Given the description of an element on the screen output the (x, y) to click on. 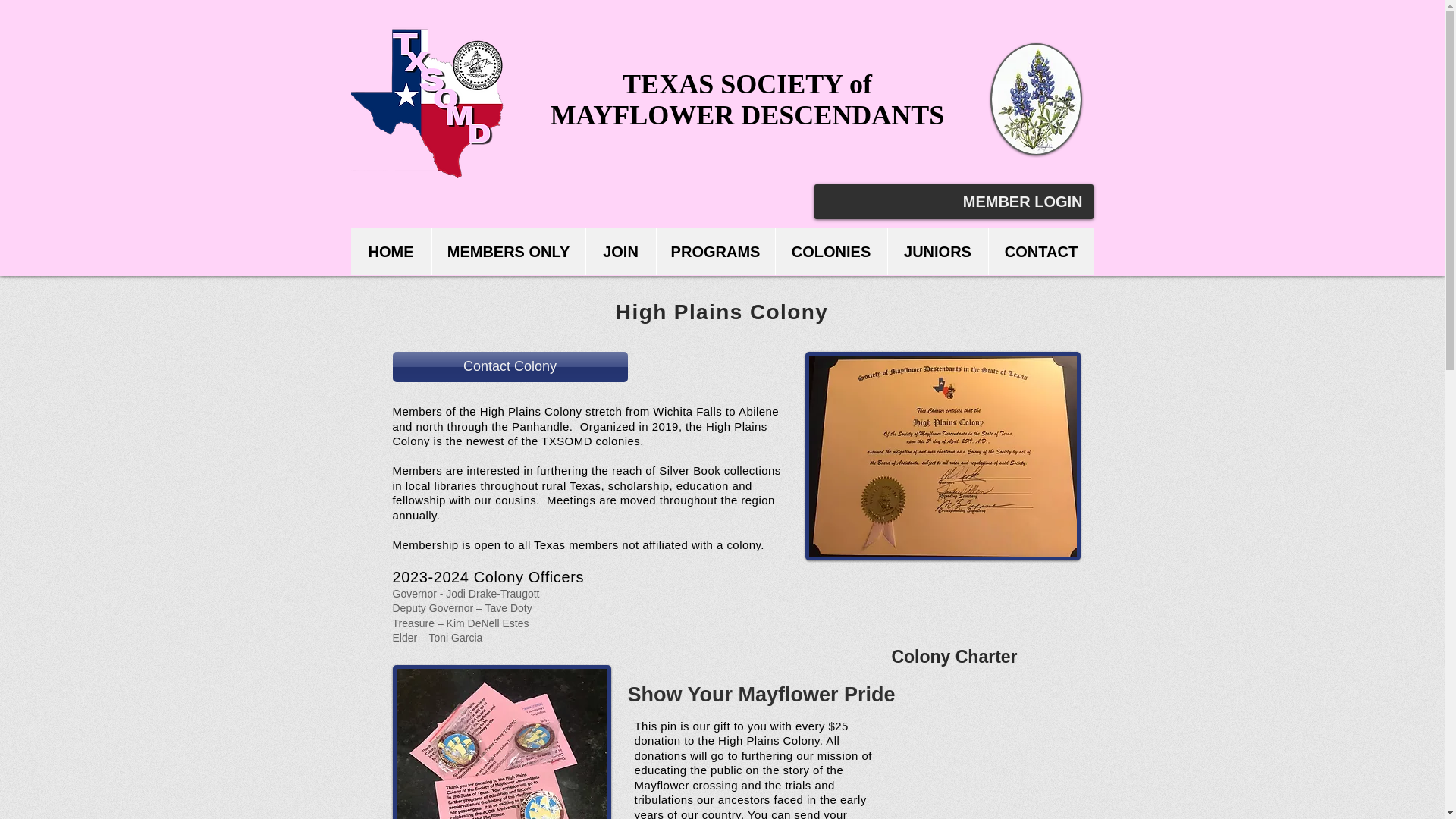
HOME (390, 251)
JOIN (620, 251)
COLONIES (830, 251)
Contact Colony (510, 367)
MEMBERS ONLY (507, 251)
CONTACT (1040, 251)
PROGRAMS (714, 251)
MEMBER LOGIN (1022, 201)
JUNIORS (937, 251)
TEXAS SOCIETY  (735, 83)
